Given the description of an element on the screen output the (x, y) to click on. 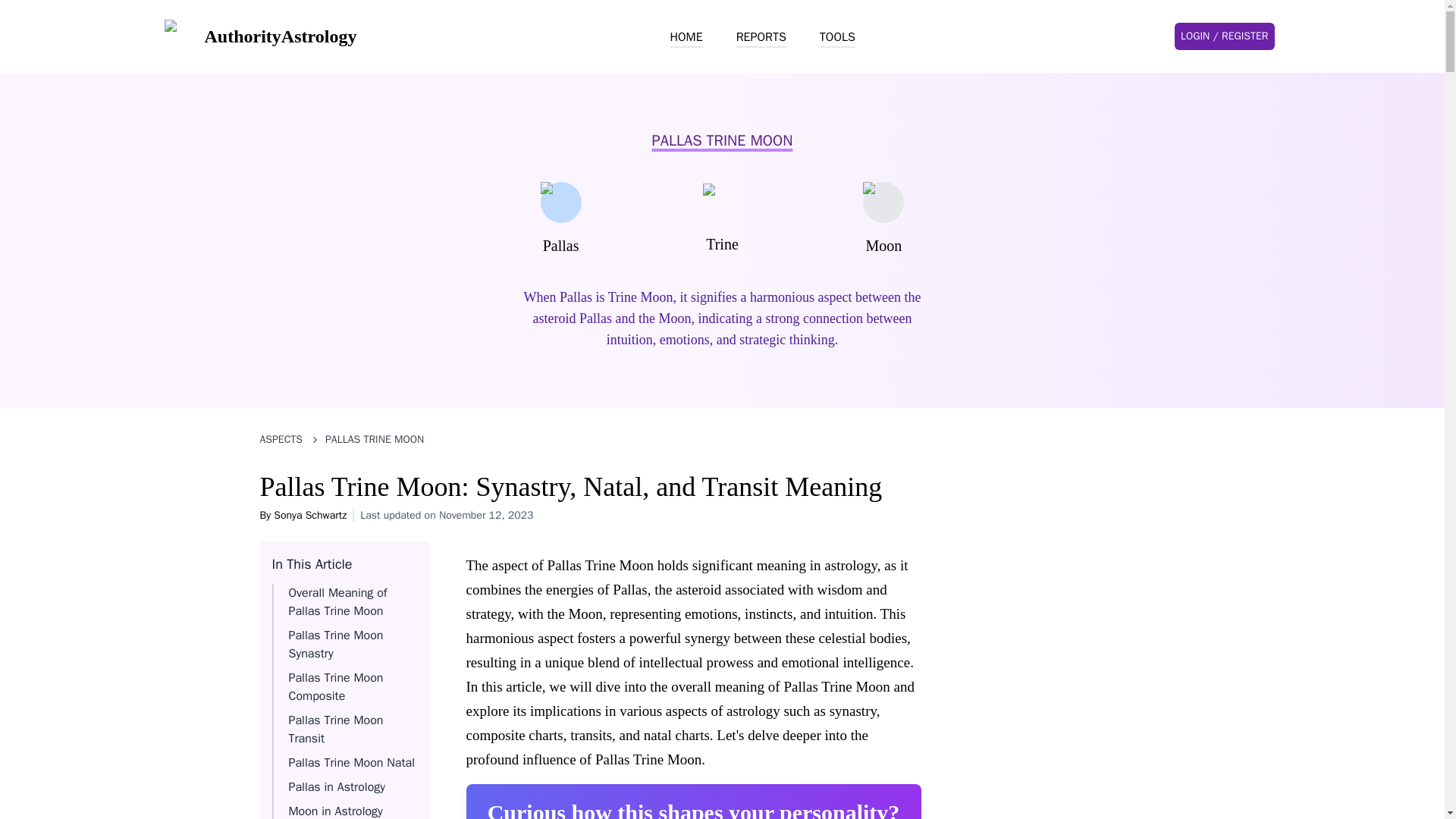
PALLAS TRINE MOON (373, 439)
ASPECTS (280, 439)
AuthorityAstrology (259, 36)
Pallas Trine Moon Natal (350, 762)
Overall Meaning of Pallas Trine Moon (337, 602)
Pallas Trine Moon Transit (335, 729)
HOME (686, 37)
Pallas Trine Moon Synastry (335, 644)
Moon in Astrology (334, 811)
REPORTS (761, 37)
